Given the description of an element on the screen output the (x, y) to click on. 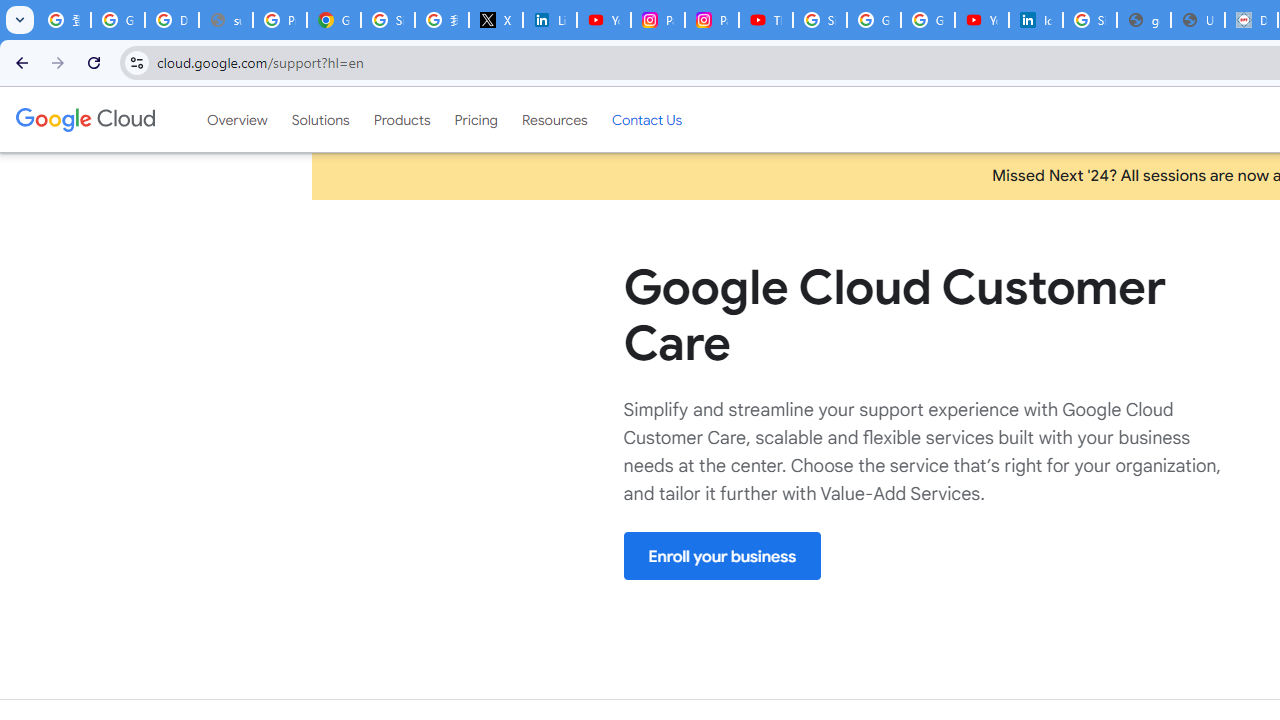
Enroll your business (722, 556)
Pricing (476, 119)
User Details (1197, 20)
Sign in - Google Accounts (819, 20)
Privacy Help Center - Policies Help (280, 20)
Products (401, 119)
Overview (236, 119)
Contact Us (646, 119)
